Given the description of an element on the screen output the (x, y) to click on. 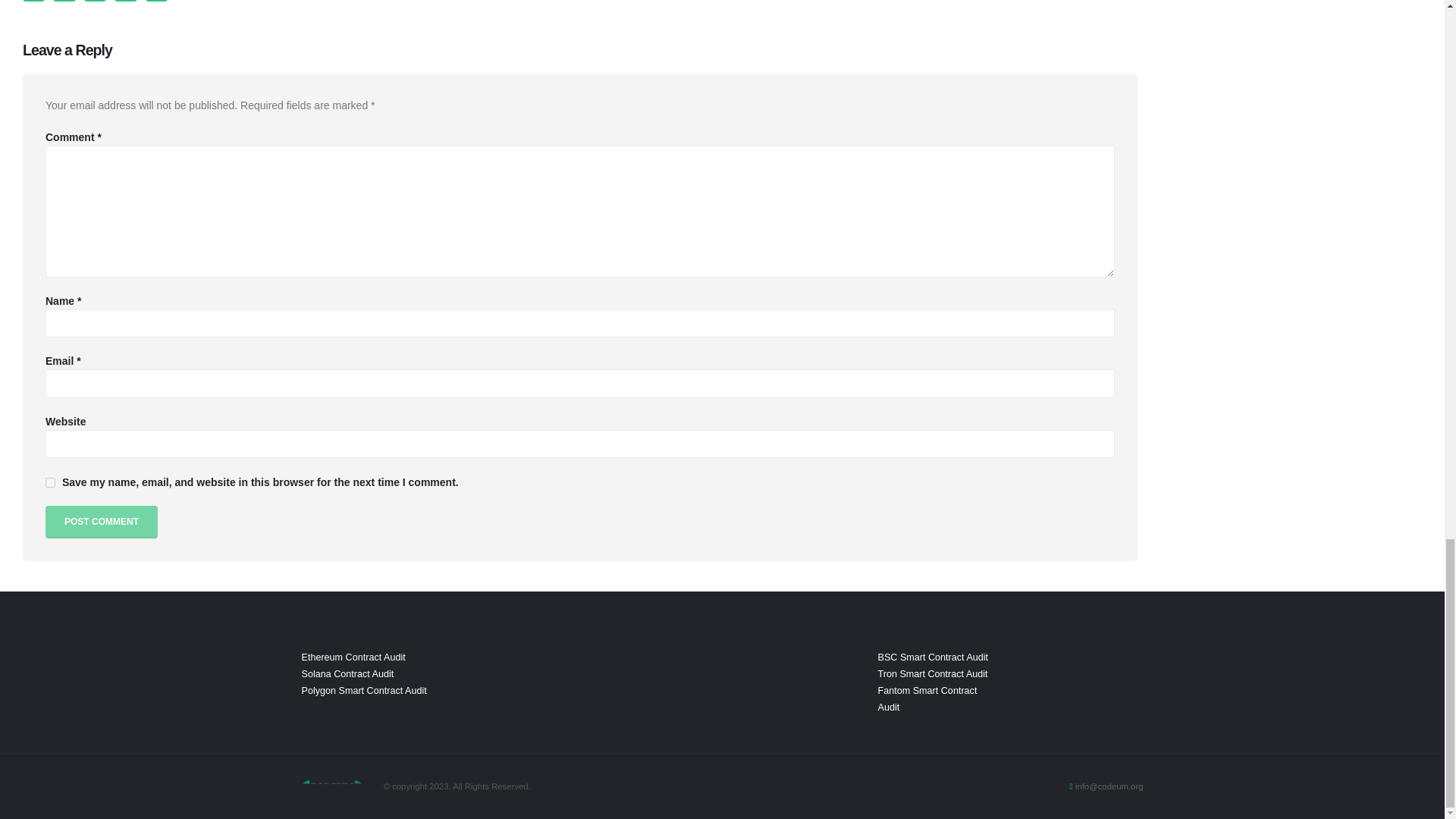
Solana Contract Audit (347, 674)
yes (50, 482)
Ethereum Contract Audit (353, 656)
BSC Smart Contract Audit (932, 656)
LinkedIn (95, 0)
Post Comment (101, 522)
LinkedIn (95, 0)
Twitter (63, 0)
Email (156, 0)
Twitter (63, 0)
Polygon Smart Contract Audit (363, 690)
Email (156, 0)
Facebook (34, 0)
Facebook (34, 0)
Fantom Smart Contract Audit (926, 698)
